Given the description of an element on the screen output the (x, y) to click on. 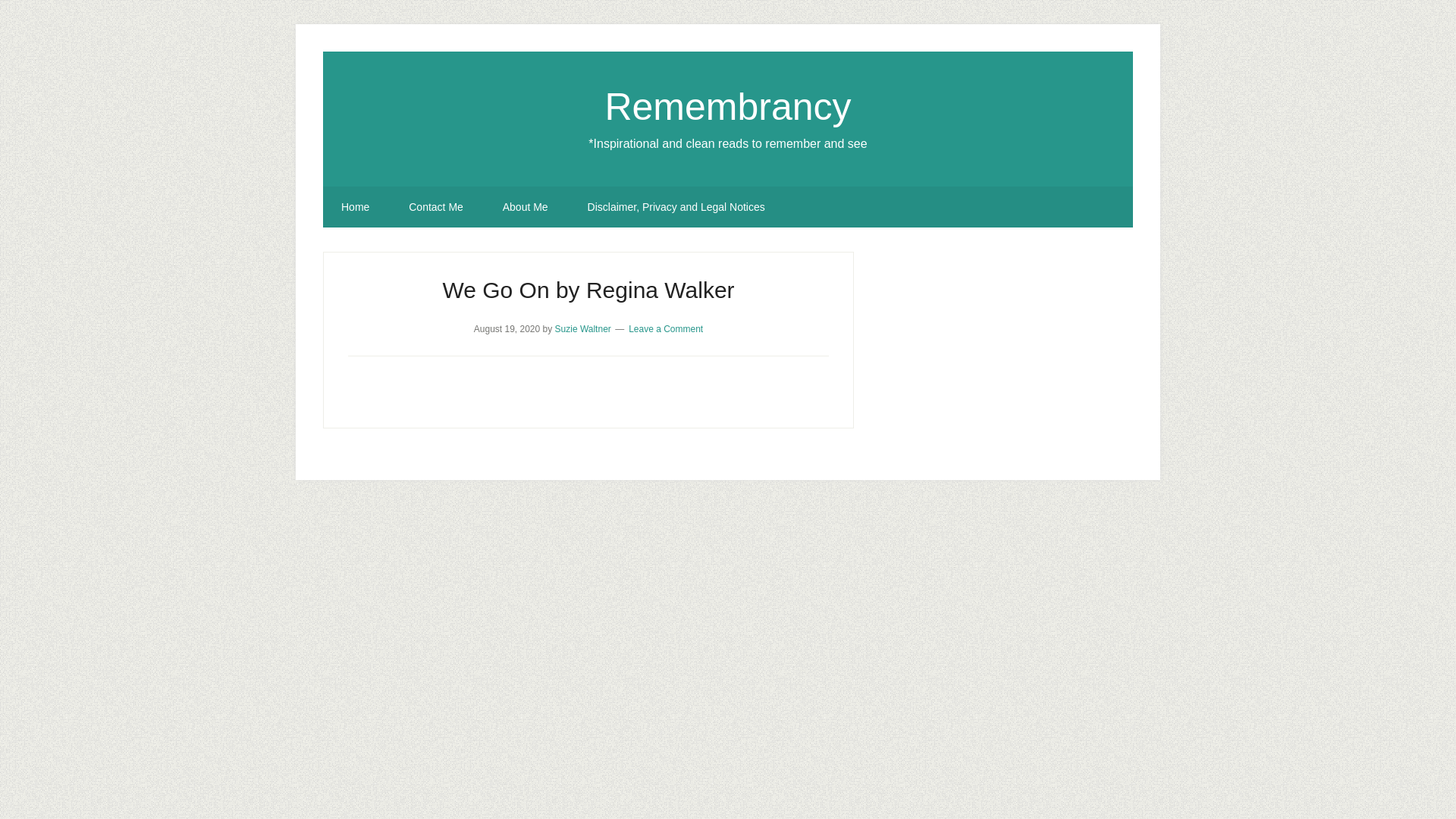
About Me (525, 206)
Contact Me (435, 206)
Suzie Waltner (582, 328)
Leave a Comment (665, 328)
Disclaimer, Privacy and Legal Notices (676, 206)
Remembrancy (727, 106)
Home (355, 206)
